Given the description of an element on the screen output the (x, y) to click on. 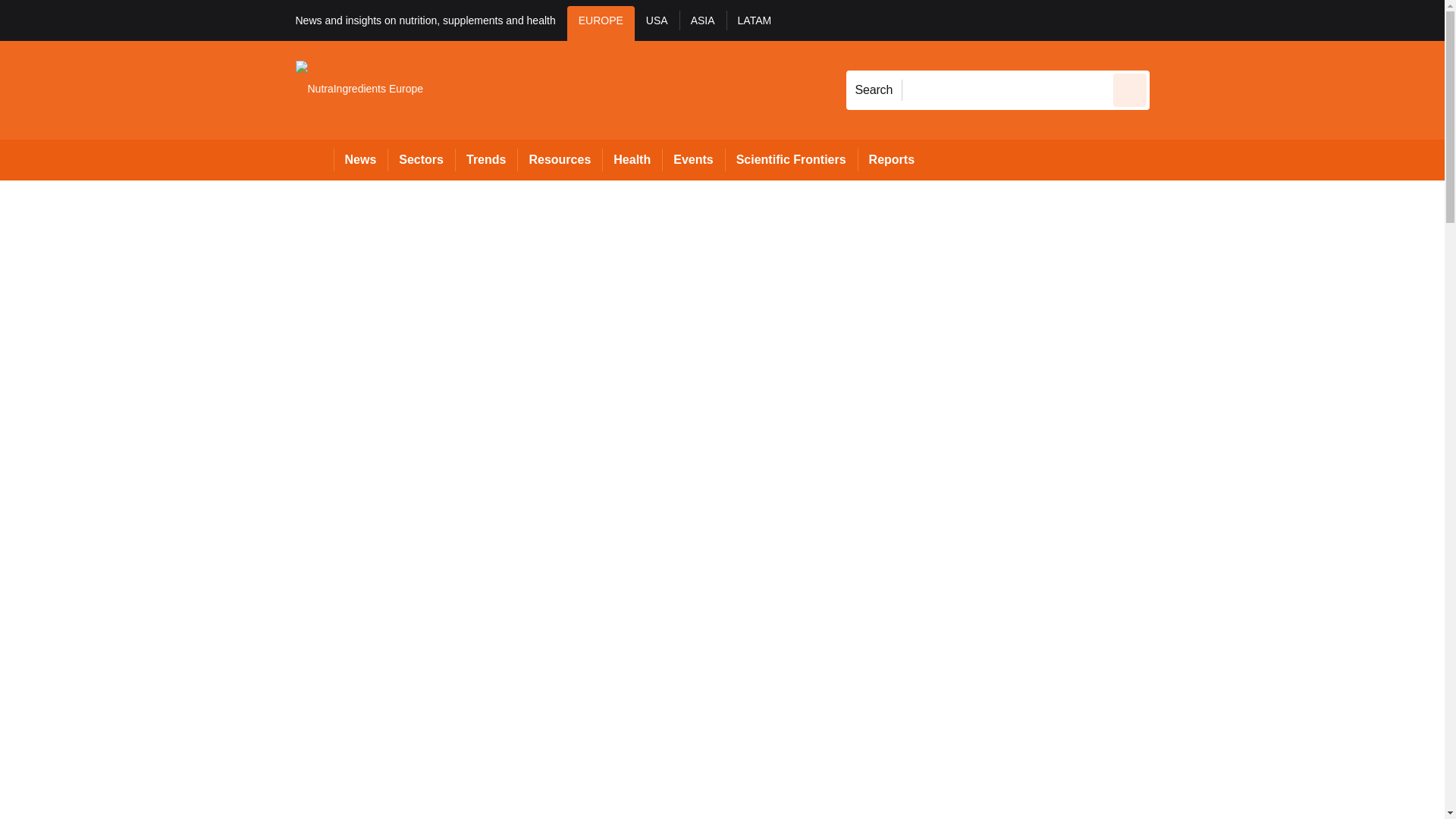
ASIA (702, 22)
Sign out (1174, 20)
USA (656, 22)
My account (1256, 20)
Home (313, 159)
Sign in (1171, 20)
News (360, 159)
SUBSCRIBE (1362, 20)
NutraIngredients Europe (359, 89)
Home (314, 159)
